Given the description of an element on the screen output the (x, y) to click on. 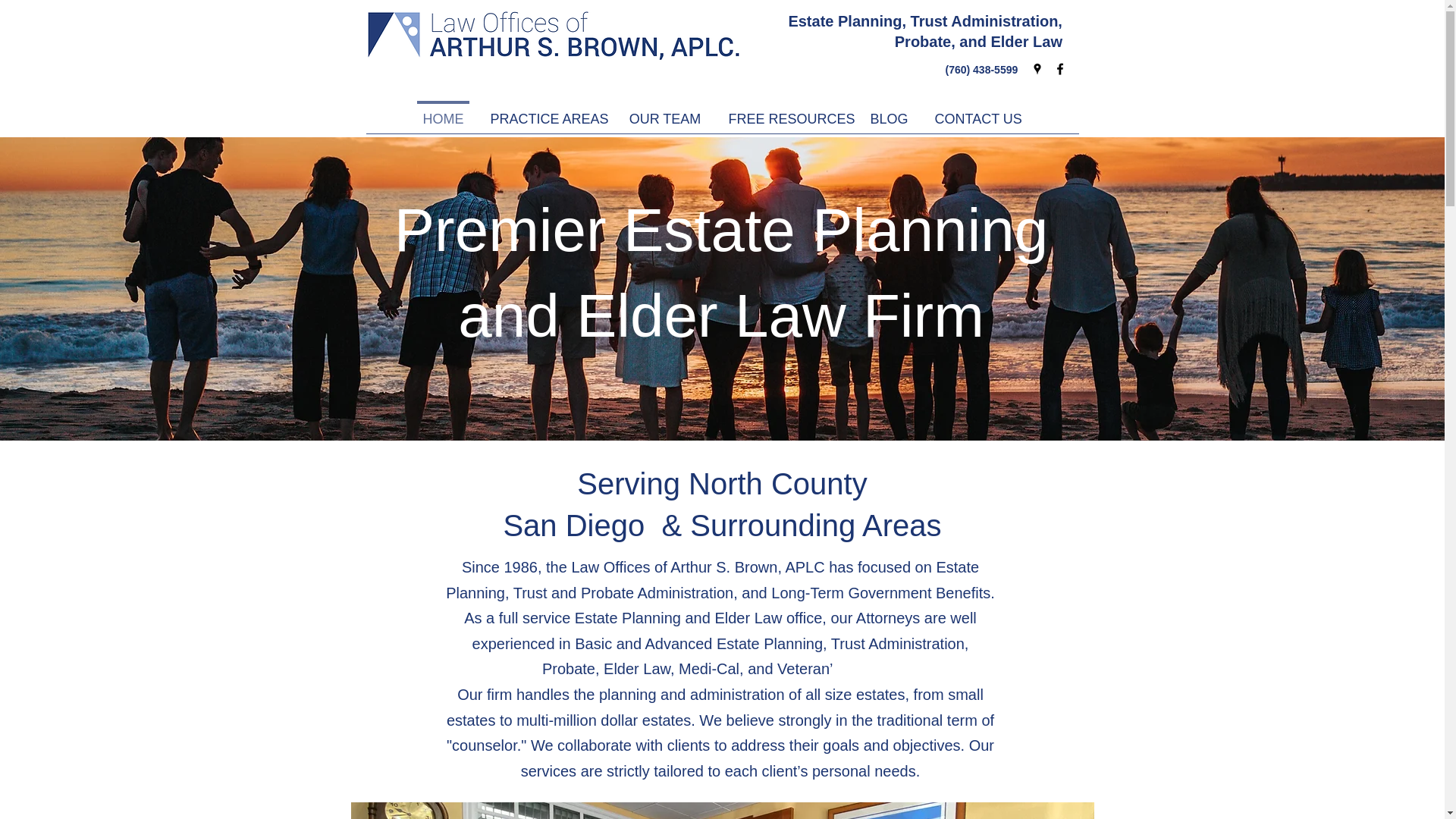
HOME (443, 111)
BLOG (889, 111)
OUR TEAM (664, 111)
FREE RESOURCES (785, 111)
PRACTICE AREAS (545, 111)
CONTACT US (977, 111)
